Given the description of an element on the screen output the (x, y) to click on. 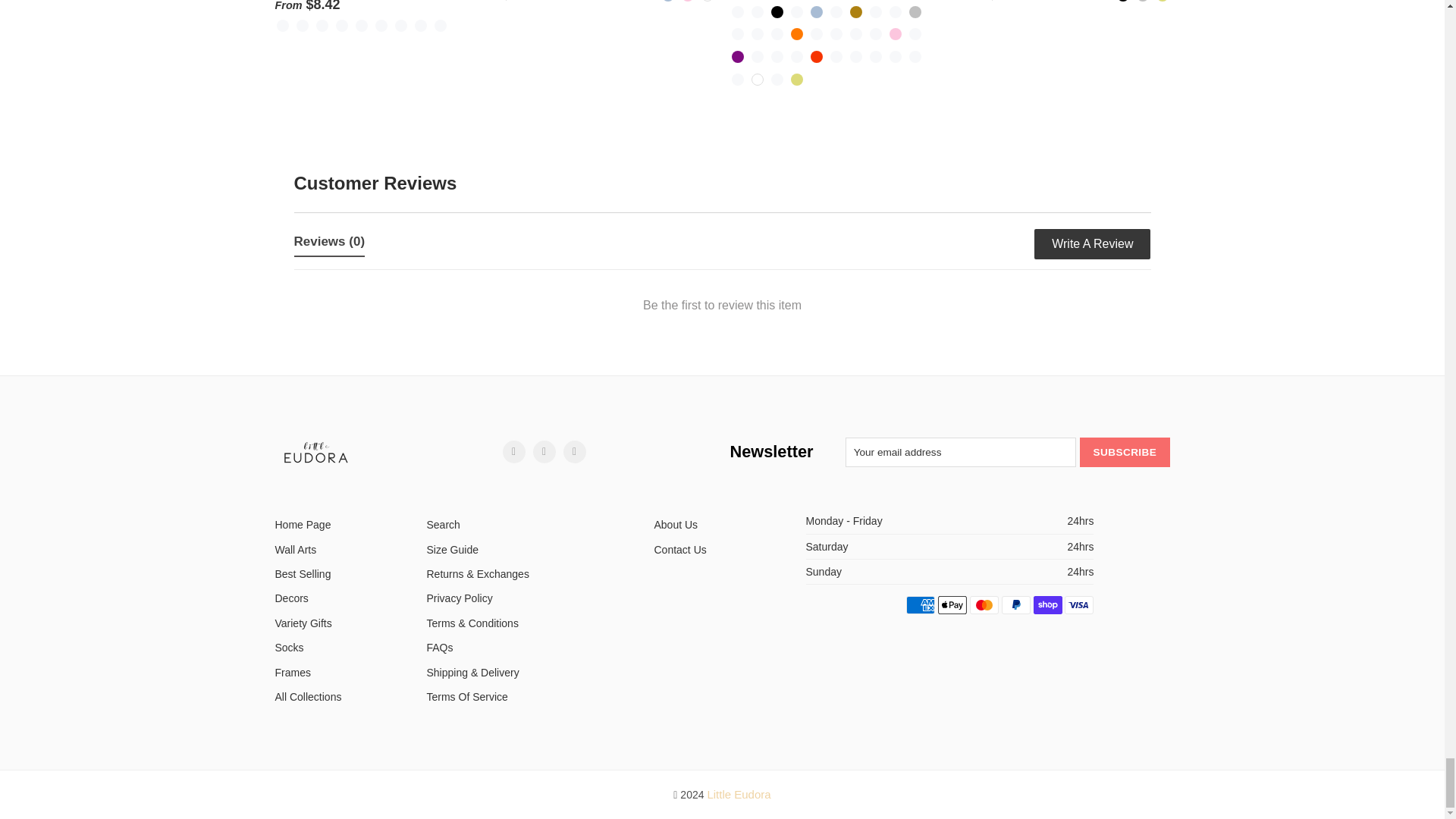
Be the first to review this item (722, 309)
SUBSCRIBE (1124, 451)
American Express (919, 605)
Shop Pay (1047, 605)
Visa (1078, 605)
Mastercard (983, 605)
Be the first to review this item (722, 309)
Apple Pay (951, 605)
PayPal (1015, 605)
